Given the description of an element on the screen output the (x, y) to click on. 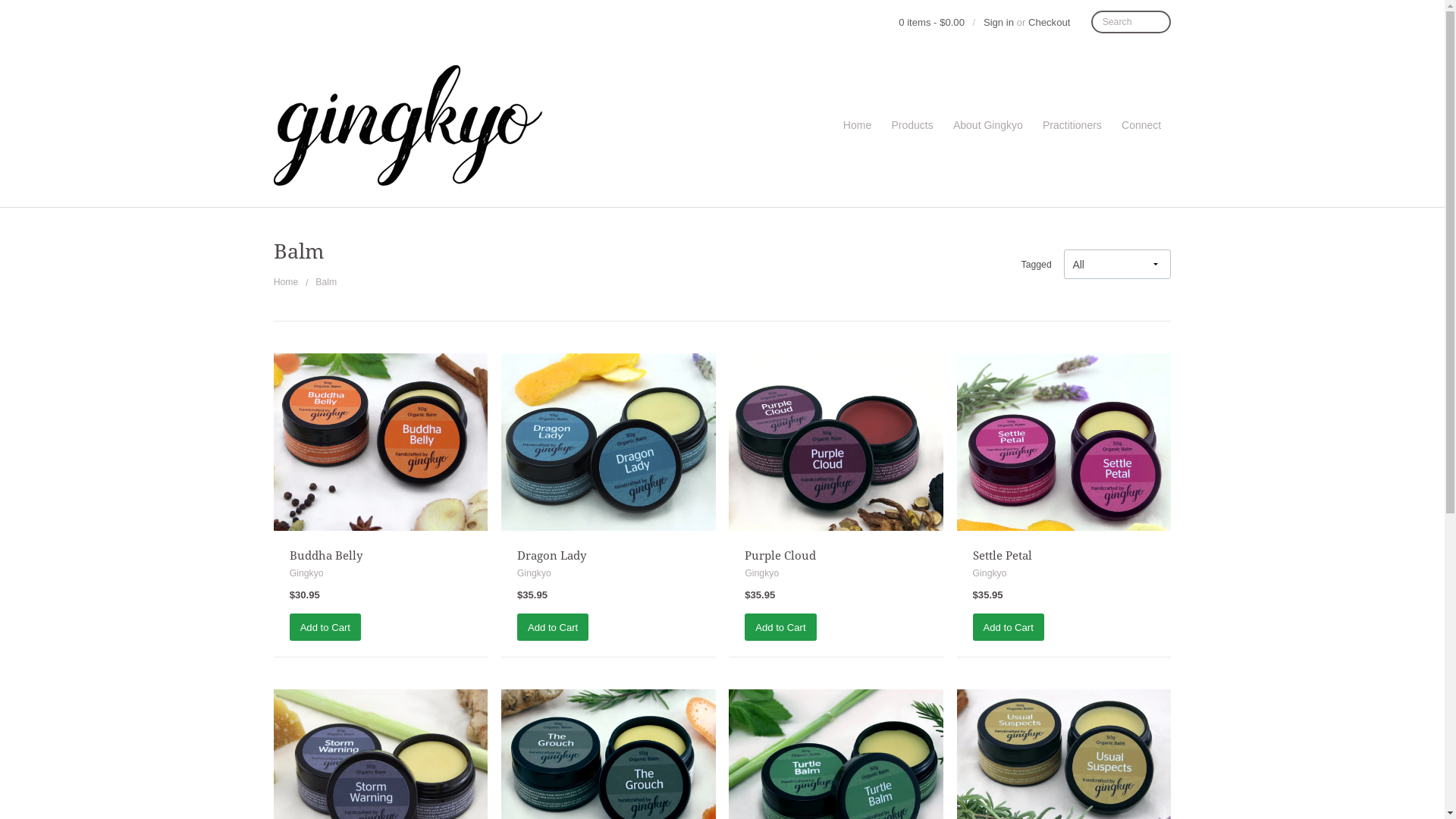
Checkout Element type: text (1049, 22)
Home Element type: text (285, 281)
Connect Element type: text (1140, 125)
Add to Cart Element type: text (779, 626)
0 items - $0.00 Element type: text (930, 22)
Balm Element type: text (325, 281)
Add to Cart Element type: text (324, 626)
Dragon Lady Element type: text (551, 555)
Purple Cloud Element type: hover (835, 482)
Add to Cart Element type: text (552, 626)
Add to Cart Element type: text (1008, 626)
Buddha Belly Element type: hover (380, 482)
Home Element type: text (857, 125)
Gingkyo Element type: hover (472, 125)
Settle Petal Element type: text (1002, 555)
Buddha Belly Element type: text (325, 555)
Products Element type: text (912, 125)
About Gingkyo Element type: text (987, 125)
Sign in Element type: text (998, 22)
Settle Petal Element type: hover (1064, 482)
Dragon Lady Element type: hover (608, 482)
Practitioners Element type: text (1071, 125)
Purple Cloud Element type: text (779, 555)
